Given the description of an element on the screen output the (x, y) to click on. 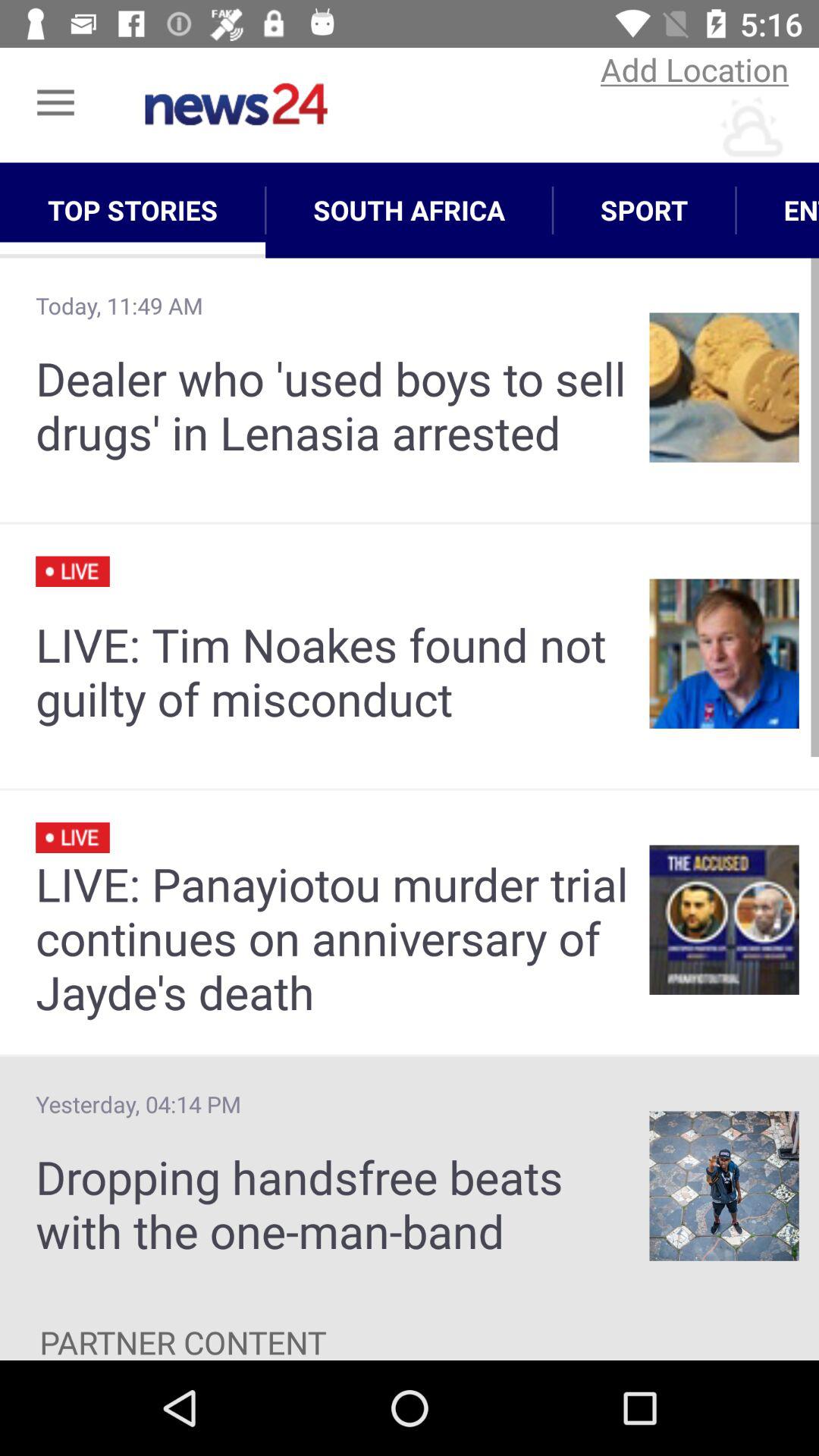
choose the icon to the right of south africa item (643, 210)
